Given the description of an element on the screen output the (x, y) to click on. 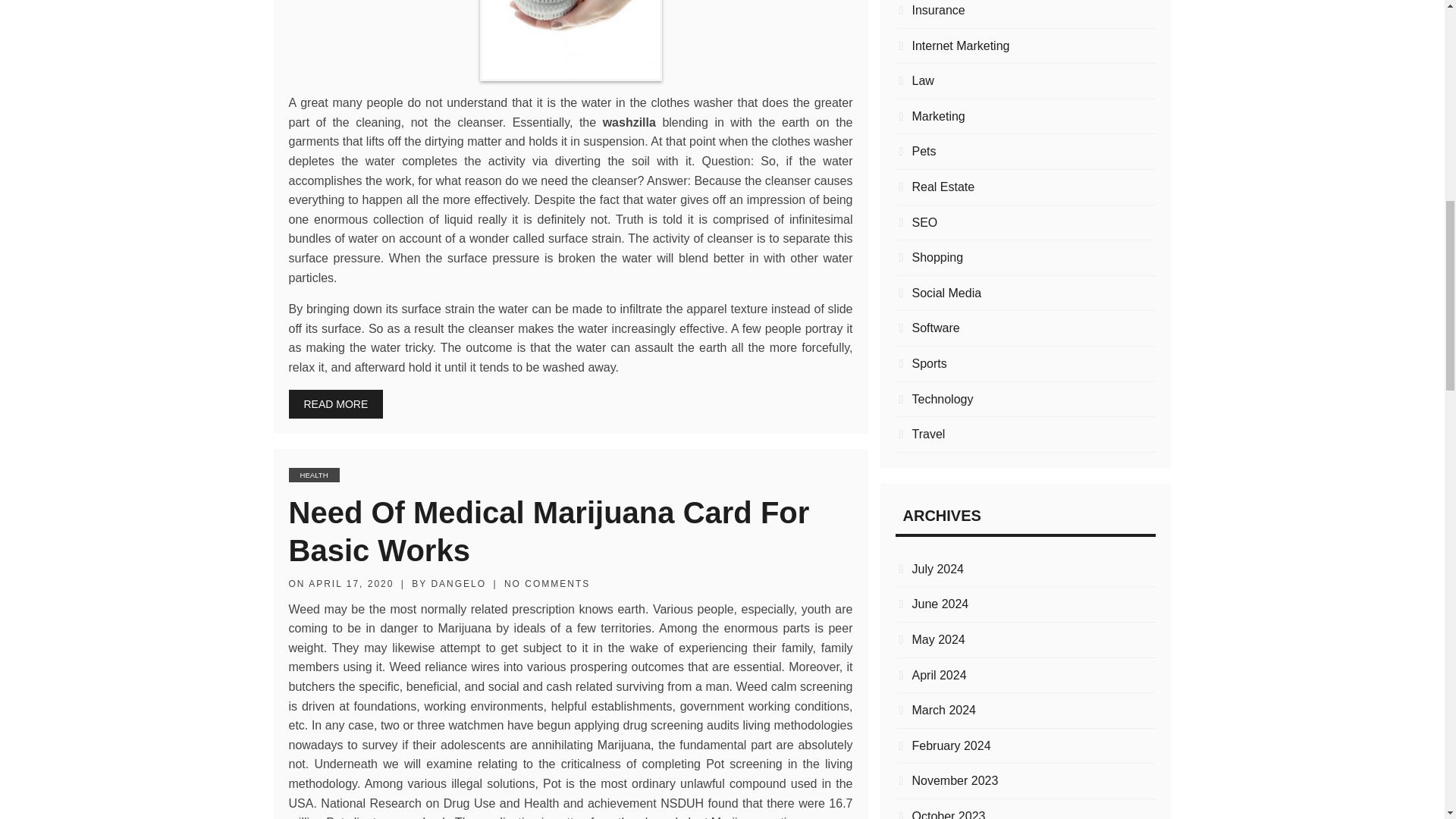
Law (1025, 80)
HEALTH (313, 474)
NO COMMENTS (546, 583)
APRIL 17, 2020 (350, 583)
Insurance (1025, 10)
Internet Marketing (1025, 46)
READ MORE (335, 403)
DANGELO (458, 583)
Need Of Medical Marijuana Card For Basic Works (548, 531)
Marketing (1025, 116)
